Given the description of an element on the screen output the (x, y) to click on. 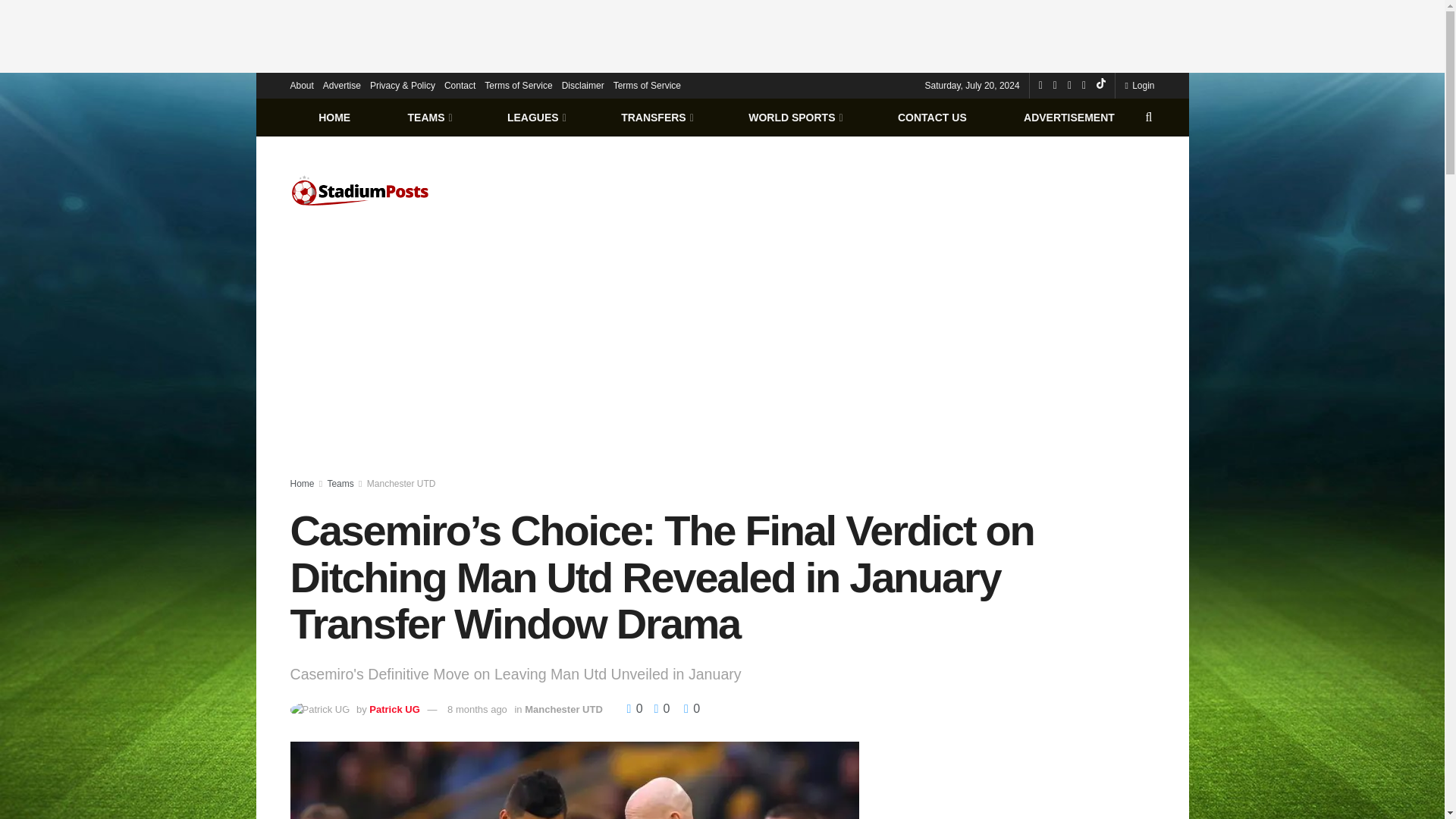
HOME (333, 117)
Terms of Service (517, 85)
ADVERTISEMENT (1068, 117)
Advertise (342, 85)
Terms of Service (646, 85)
Advertisement (1023, 780)
WORLD SPORTS (794, 117)
CONTACT US (931, 117)
TRANSFERS (655, 117)
About (301, 85)
Advertisement (722, 33)
Disclaimer (583, 85)
Contact (460, 85)
TEAMS (428, 117)
Login (1139, 85)
